Given the description of an element on the screen output the (x, y) to click on. 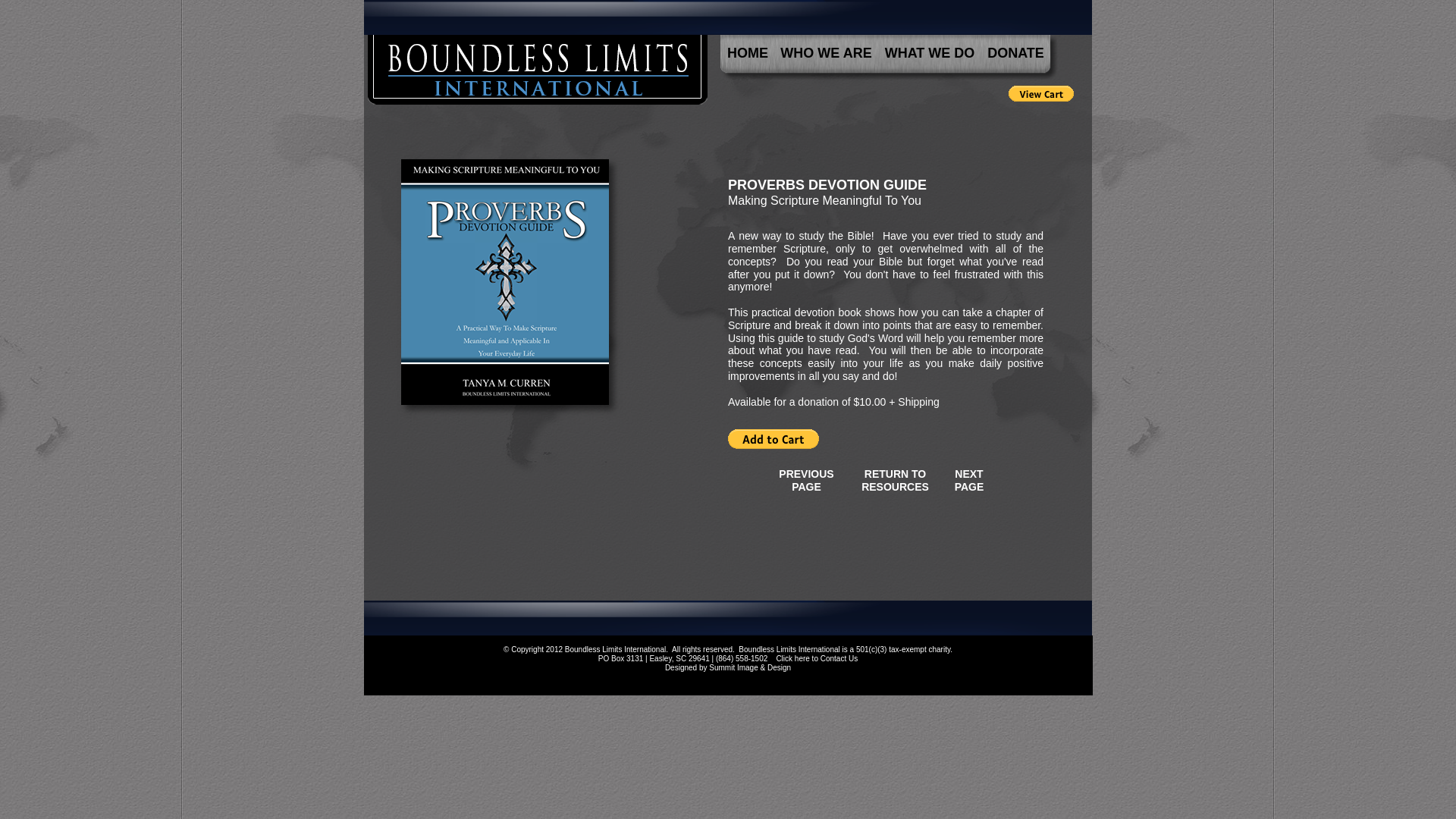
DONATE (1015, 52)
HOME (747, 52)
NEXT PAGE (969, 482)
WHAT WE DO (929, 52)
WHO WE ARE (825, 52)
PREVIOUS PAGE (806, 482)
RETURN TO RESOURCES (895, 487)
Contact Us (839, 658)
